Given the description of an element on the screen output the (x, y) to click on. 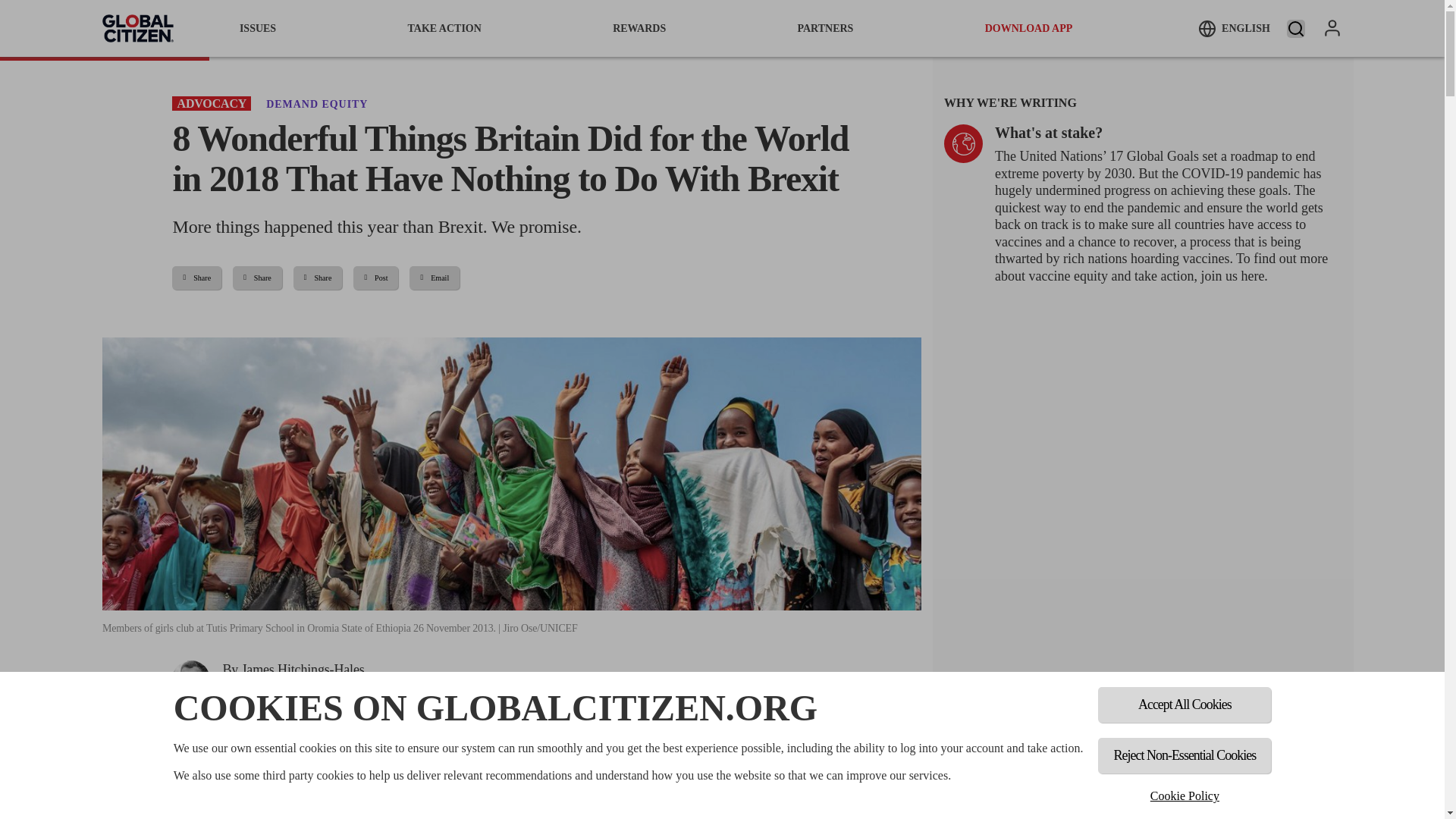
ISSUES (257, 28)
Share (196, 277)
DOWNLOAD APP (1029, 28)
ENGLISH (1233, 28)
REWARDS (639, 28)
Demand Equity (317, 103)
TAKE ACTION (444, 28)
PARTNERS (825, 28)
DEMAND EQUITY (317, 103)
